Given the description of an element on the screen output the (x, y) to click on. 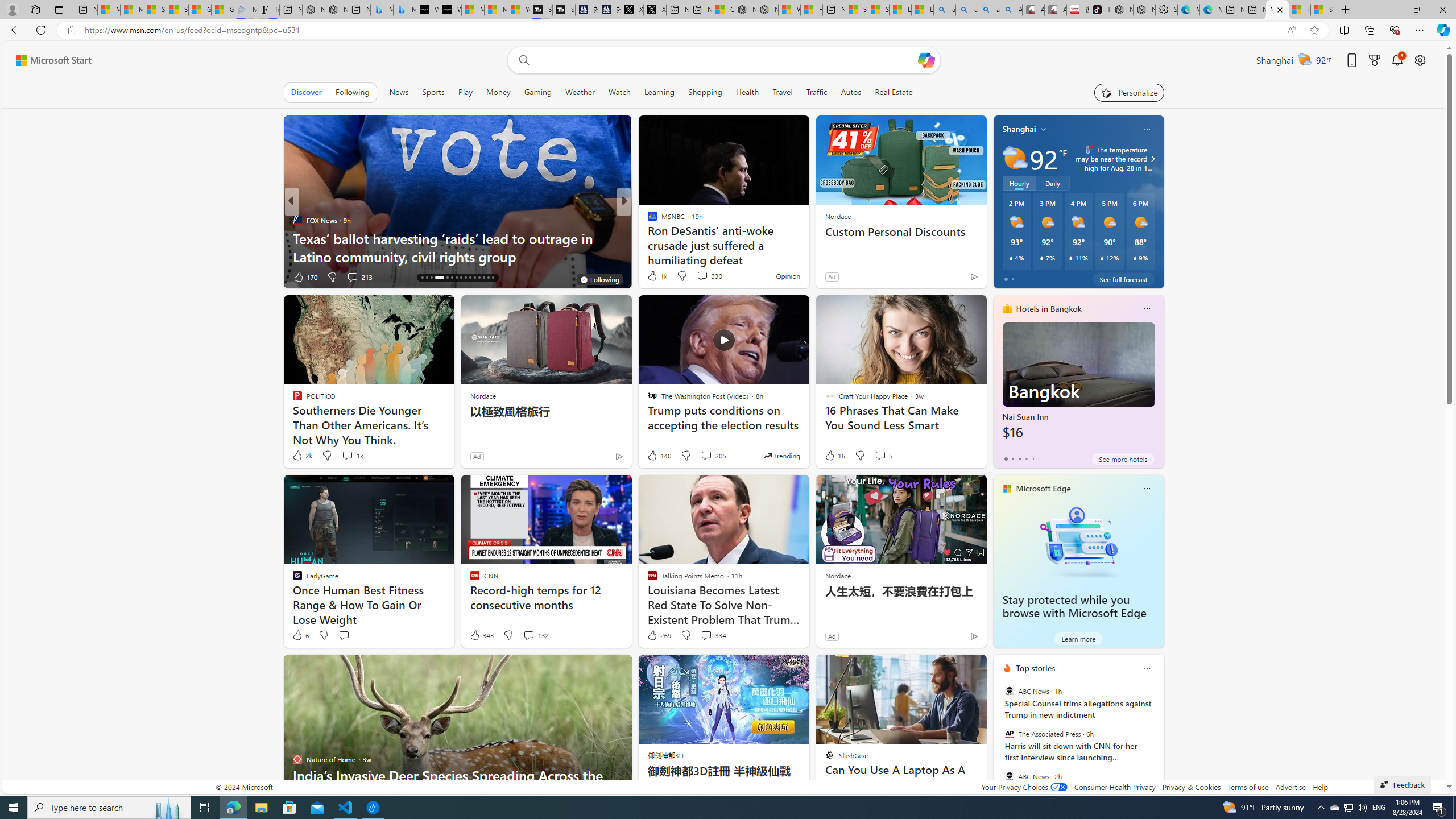
Planning to Organize (647, 219)
View comments 96 Comment (707, 276)
TAG24 NEWS (647, 219)
Stay protected while you browse with Microsoft Edge (1077, 541)
Privacy & Cookies (1191, 786)
Nai Suan Inn (1077, 385)
AutomationID: tab-24 (465, 277)
87 Like (652, 276)
Daily (1052, 183)
View comments 213 Comment (359, 276)
Sports (432, 92)
